Given the description of an element on the screen output the (x, y) to click on. 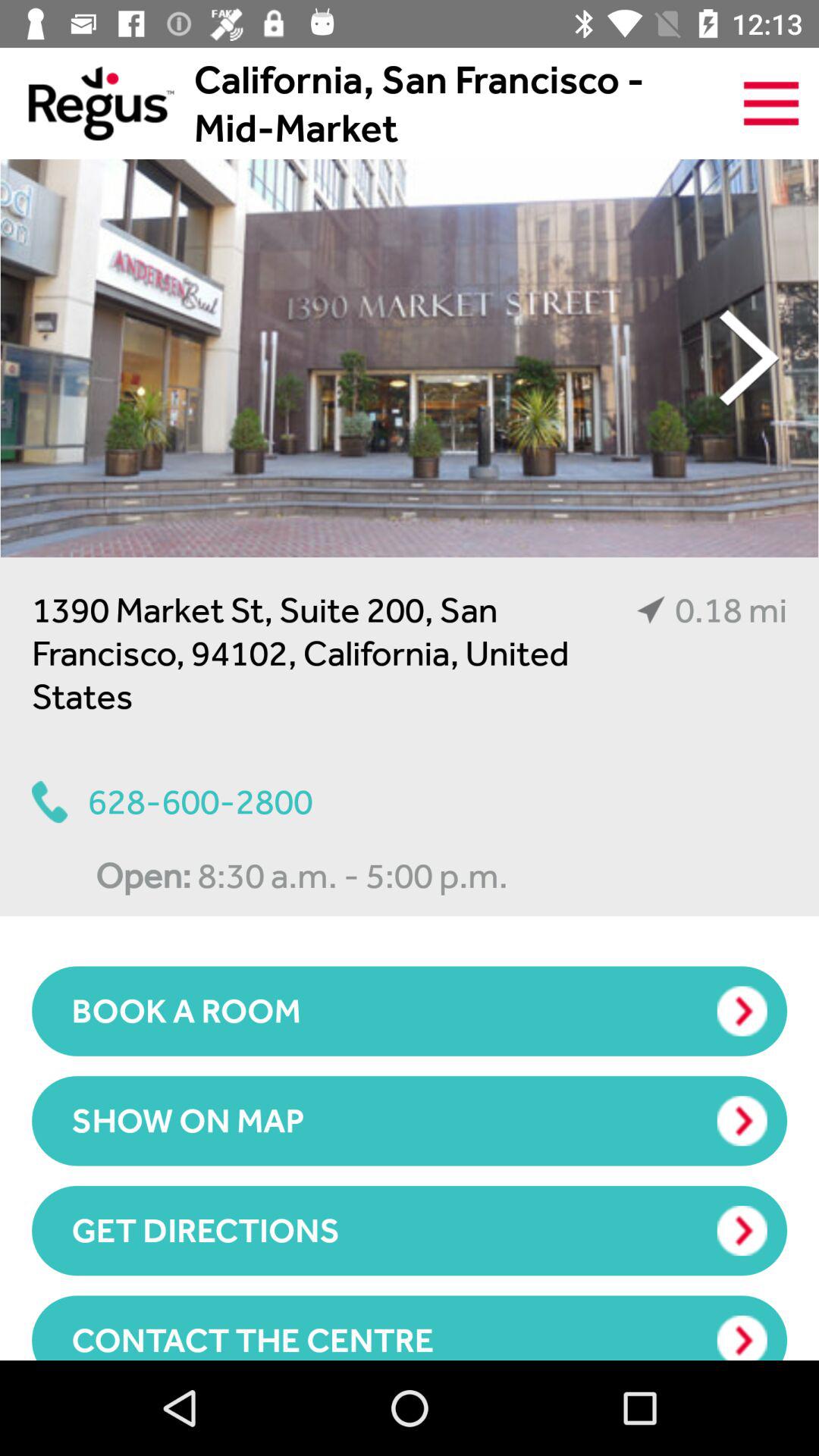
press the icon next to the california san francisco (771, 103)
